Given the description of an element on the screen output the (x, y) to click on. 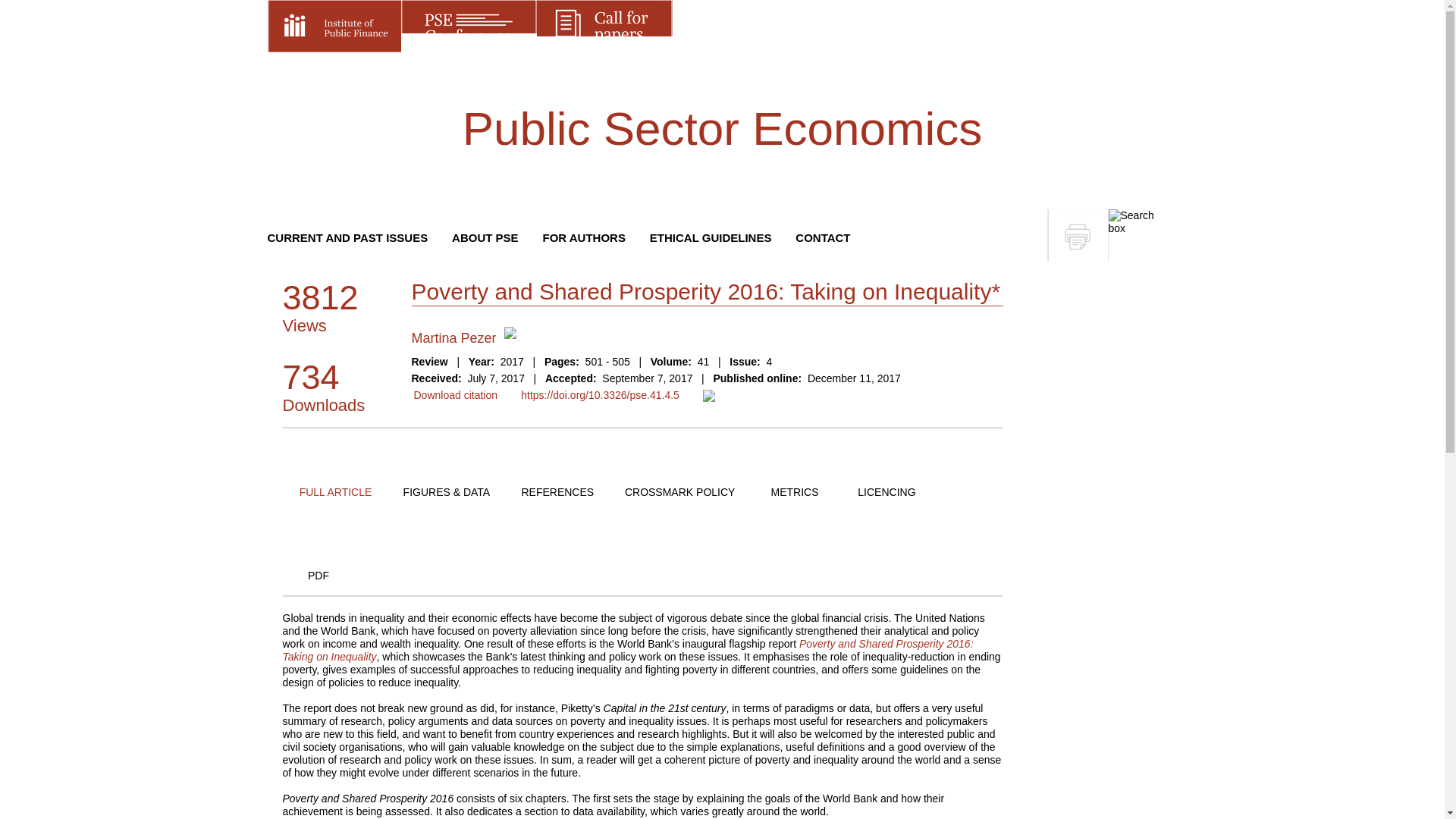
ABOUT PSE (484, 237)
register (1125, 27)
FOR AUTHORS (582, 237)
CONTACT (822, 237)
Institute of public finance (333, 26)
PDF (317, 575)
Public Sector Economics conference (467, 26)
FOR AUTHORS (582, 237)
ETHICAL GUIDELINES (710, 237)
CURRENT AND PAST ISSUES (347, 237)
